Given the description of an element on the screen output the (x, y) to click on. 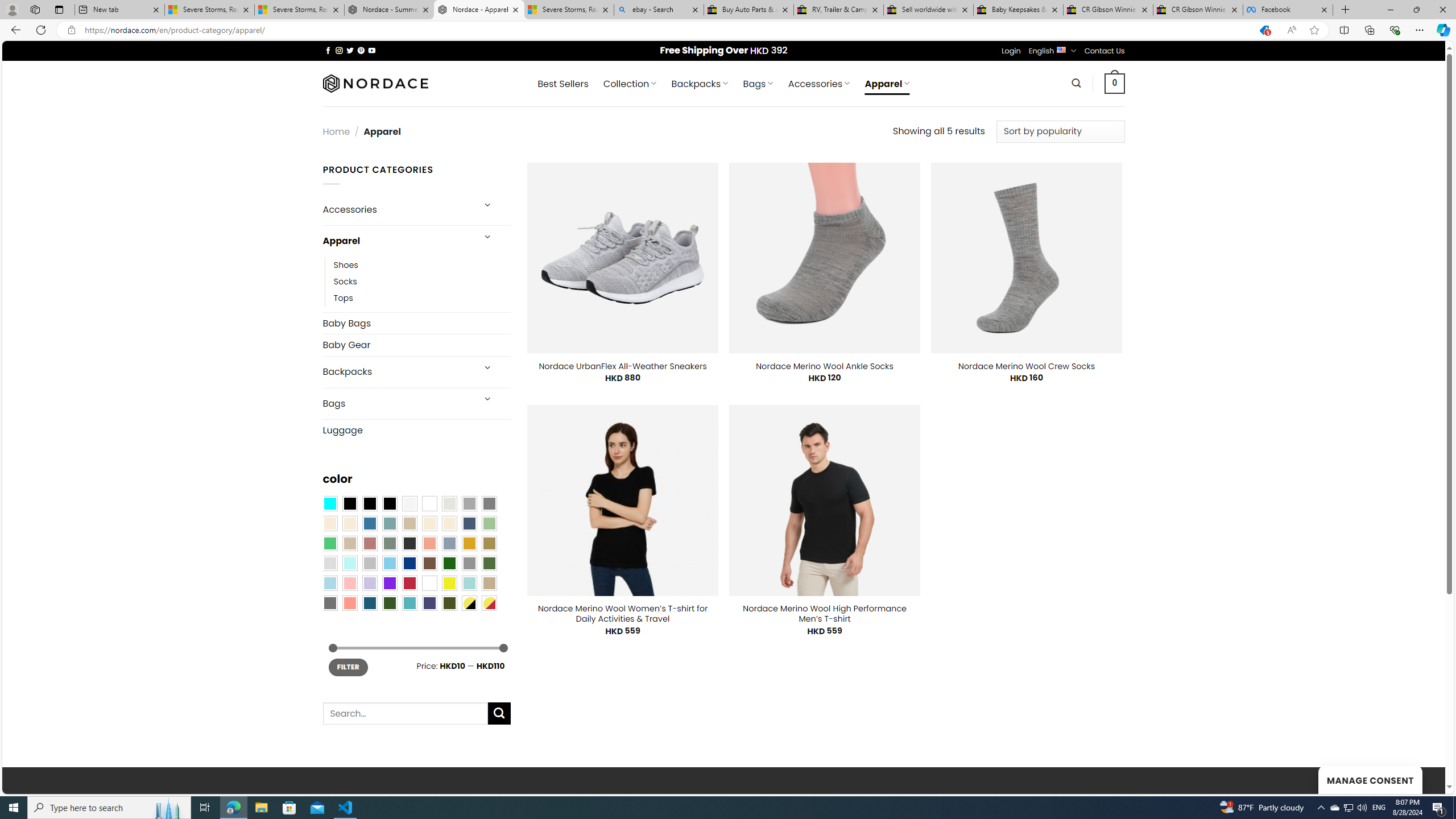
Aqua (468, 582)
Accessories (397, 209)
Luggage (416, 430)
Purple Navy (429, 602)
RV, Trailer & Camper Steps & Ladders for sale | eBay (838, 9)
Blue (369, 522)
Baby Gear (416, 345)
Yellow (449, 582)
  0   (1115, 83)
Socks (422, 280)
Cream (449, 522)
